Given the description of an element on the screen output the (x, y) to click on. 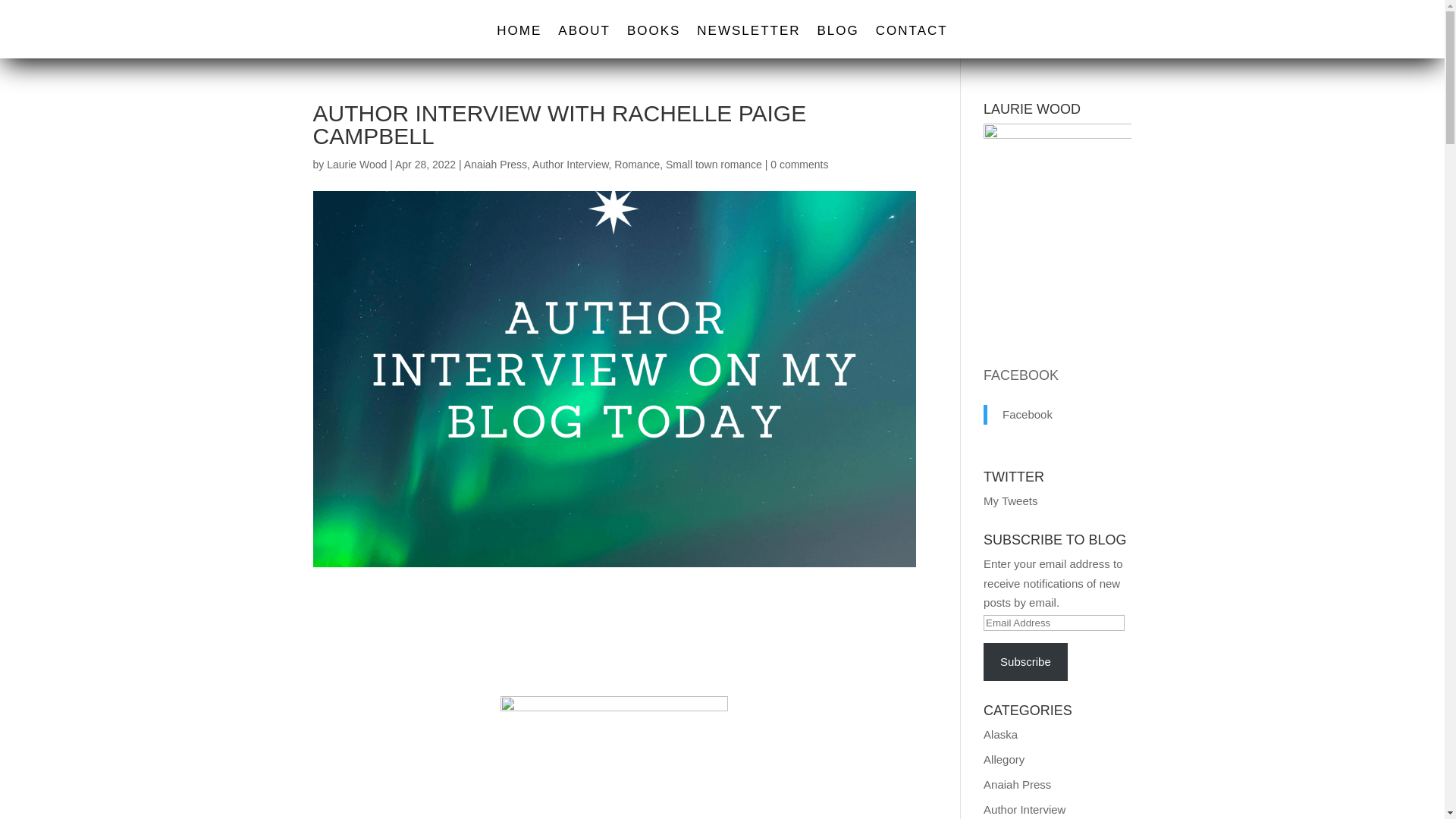
Posts by Laurie Wood (356, 164)
HOME (518, 41)
My Tweets (1010, 500)
Anaiah Press (495, 164)
Subscribe (1025, 661)
Allegory (1004, 758)
BLOG (837, 41)
Laurie Wood (356, 164)
NEWSLETTER (748, 41)
Small town romance (713, 164)
ABOUT (583, 41)
BOOKS (653, 41)
Author Interview (1024, 809)
Romance (636, 164)
Author Interview (570, 164)
